Given the description of an element on the screen output the (x, y) to click on. 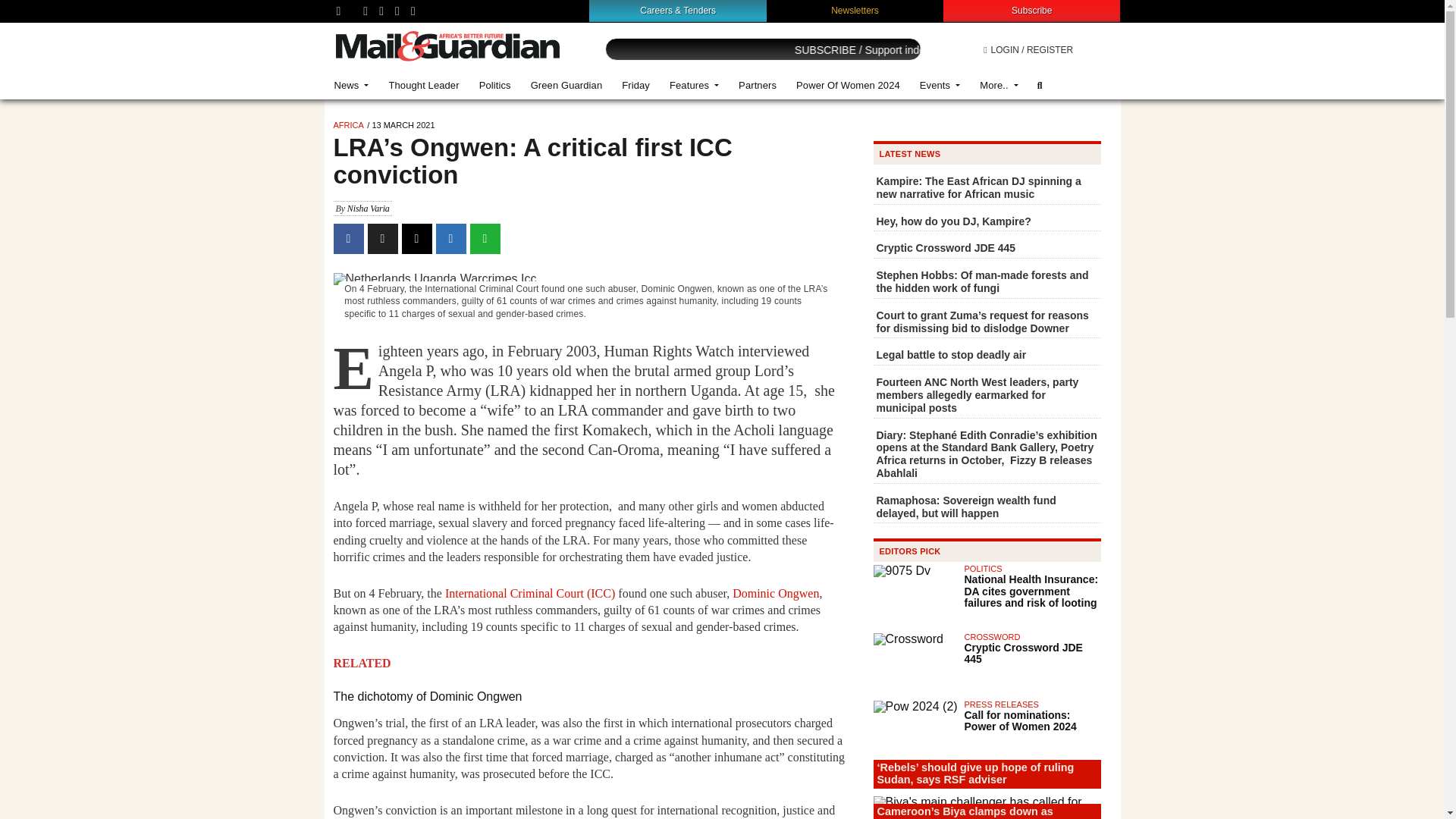
Newsletters (855, 9)
Subscribe (1031, 9)
News (351, 85)
Friday (635, 85)
Politics (494, 85)
News (351, 85)
Green Guardian (566, 85)
Thought Leader (423, 85)
Features (694, 85)
